Given the description of an element on the screen output the (x, y) to click on. 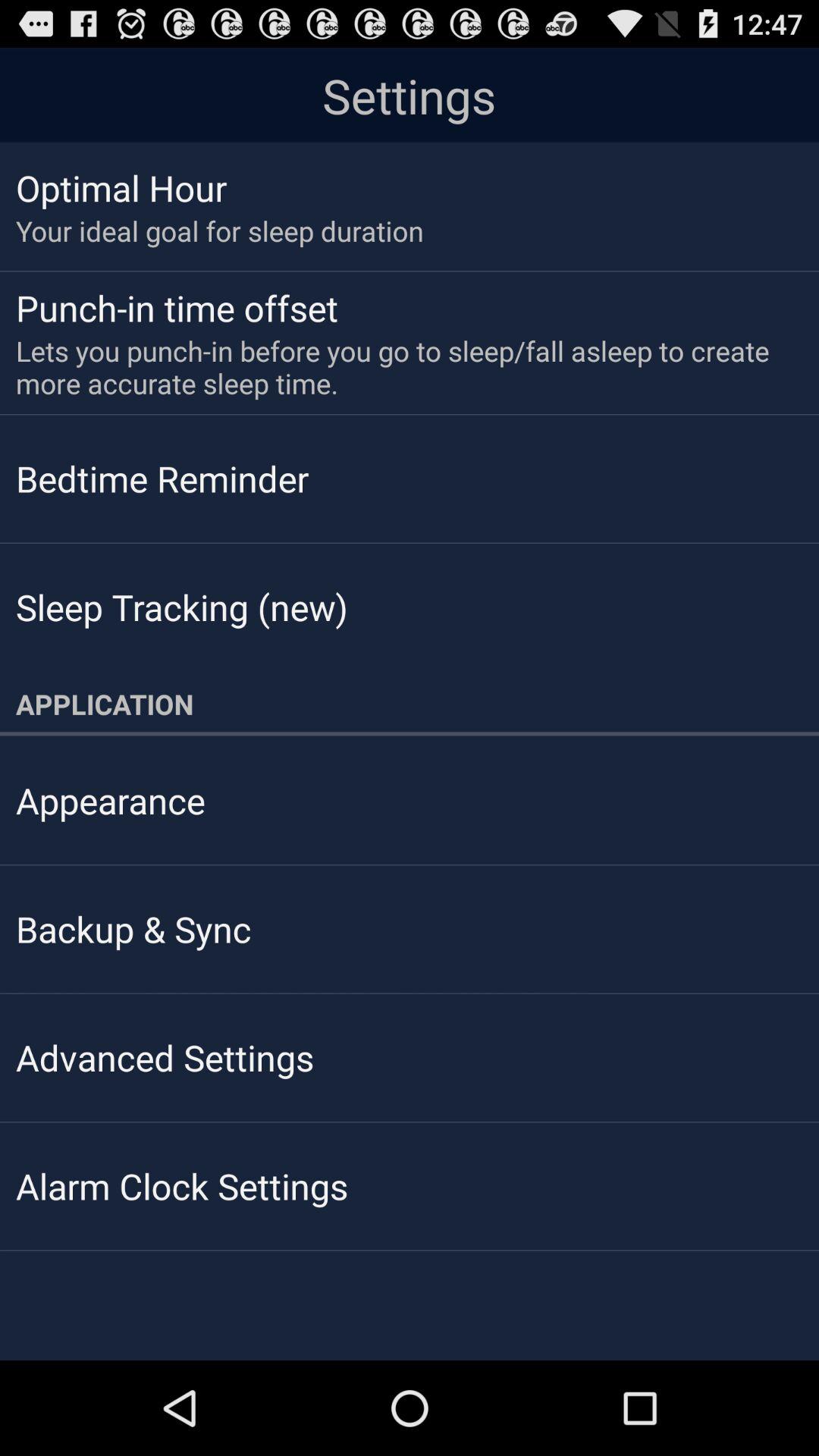
launch the appearance icon (110, 800)
